Given the description of an element on the screen output the (x, y) to click on. 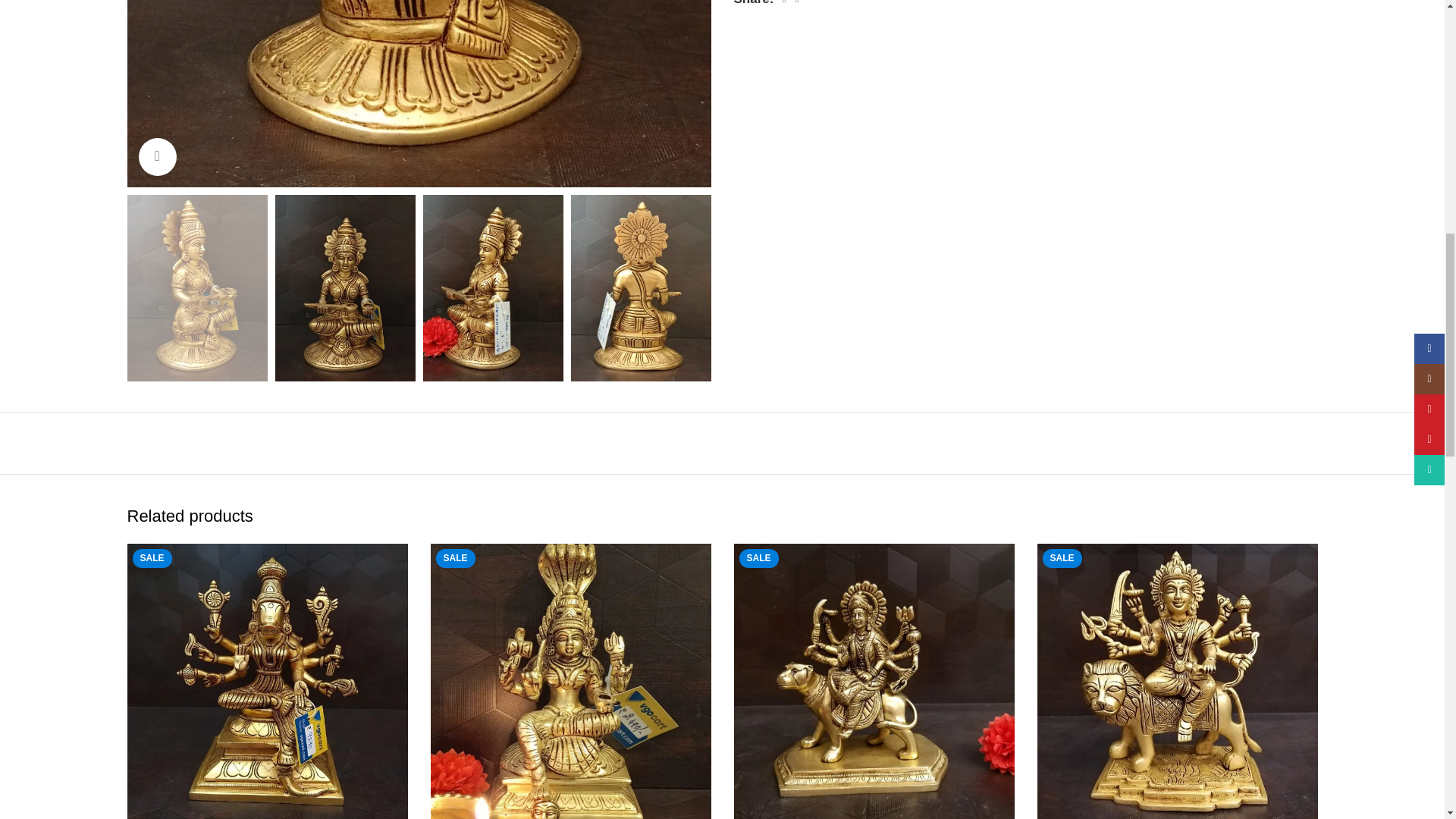
brass-goddess-annapoorani-idol-pooja-gift (419, 93)
